Given the description of an element on the screen output the (x, y) to click on. 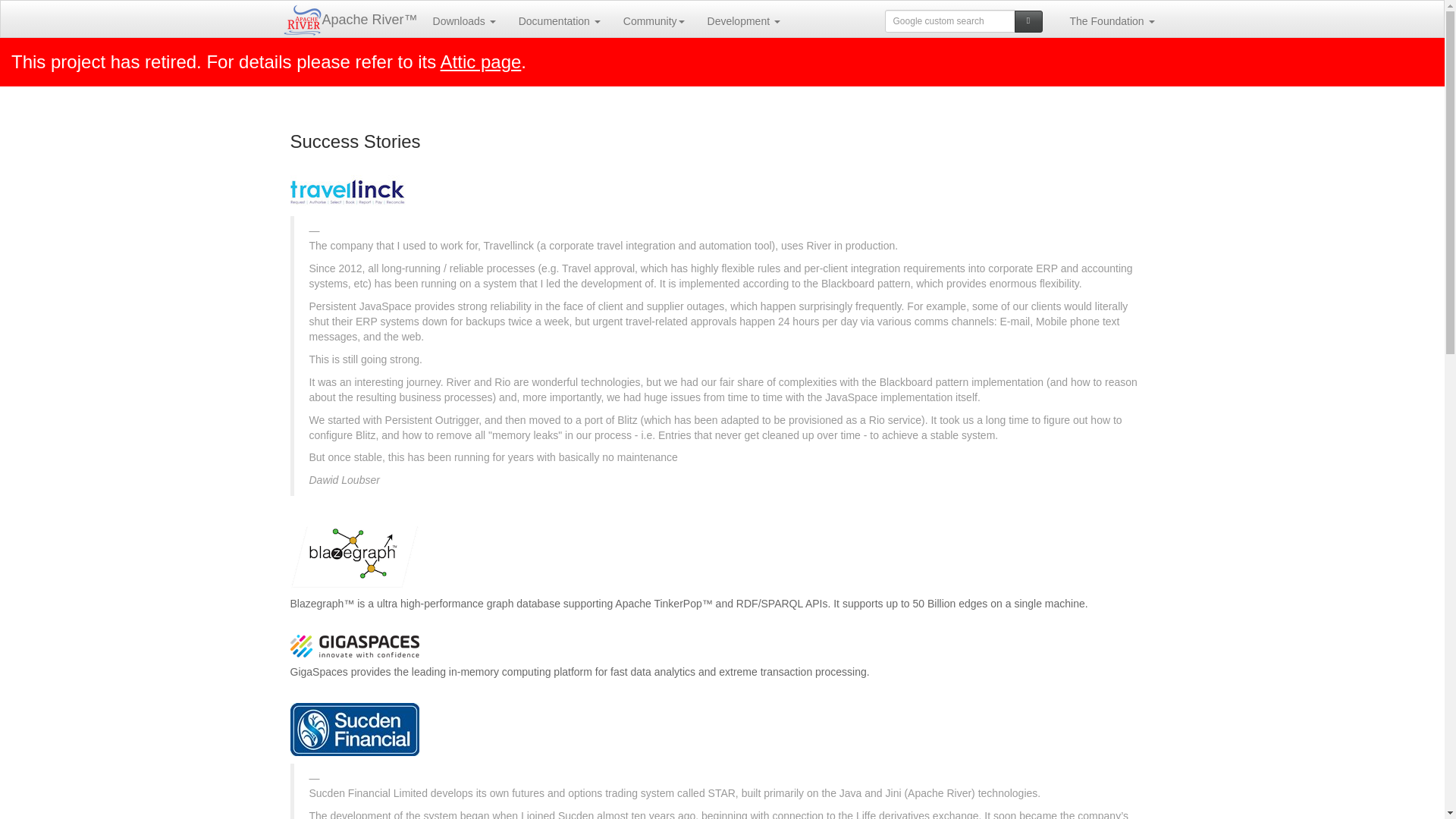
Downloads (464, 19)
Documentation (558, 19)
Development (743, 19)
Attic page (481, 61)
Community (653, 19)
The Foundation (1112, 19)
